Given the description of an element on the screen output the (x, y) to click on. 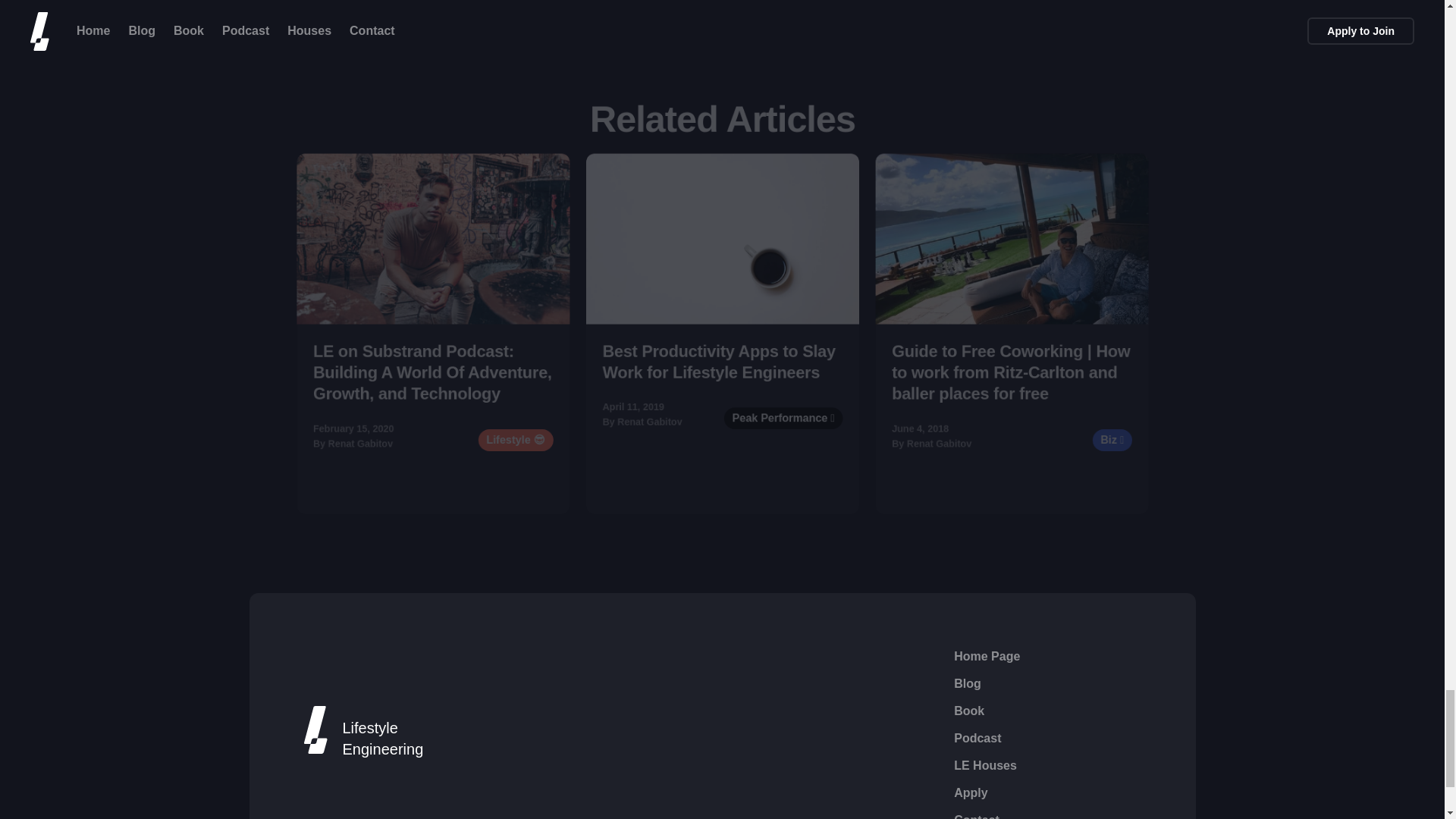
Home Page (986, 656)
Best Productivity Apps to Slay Work for Lifestyle Engineers (735, 372)
Book (968, 710)
Blog (967, 683)
LE Houses (984, 765)
Podcast (977, 738)
Contact (975, 815)
Apply (970, 792)
